Given the description of an element on the screen output the (x, y) to click on. 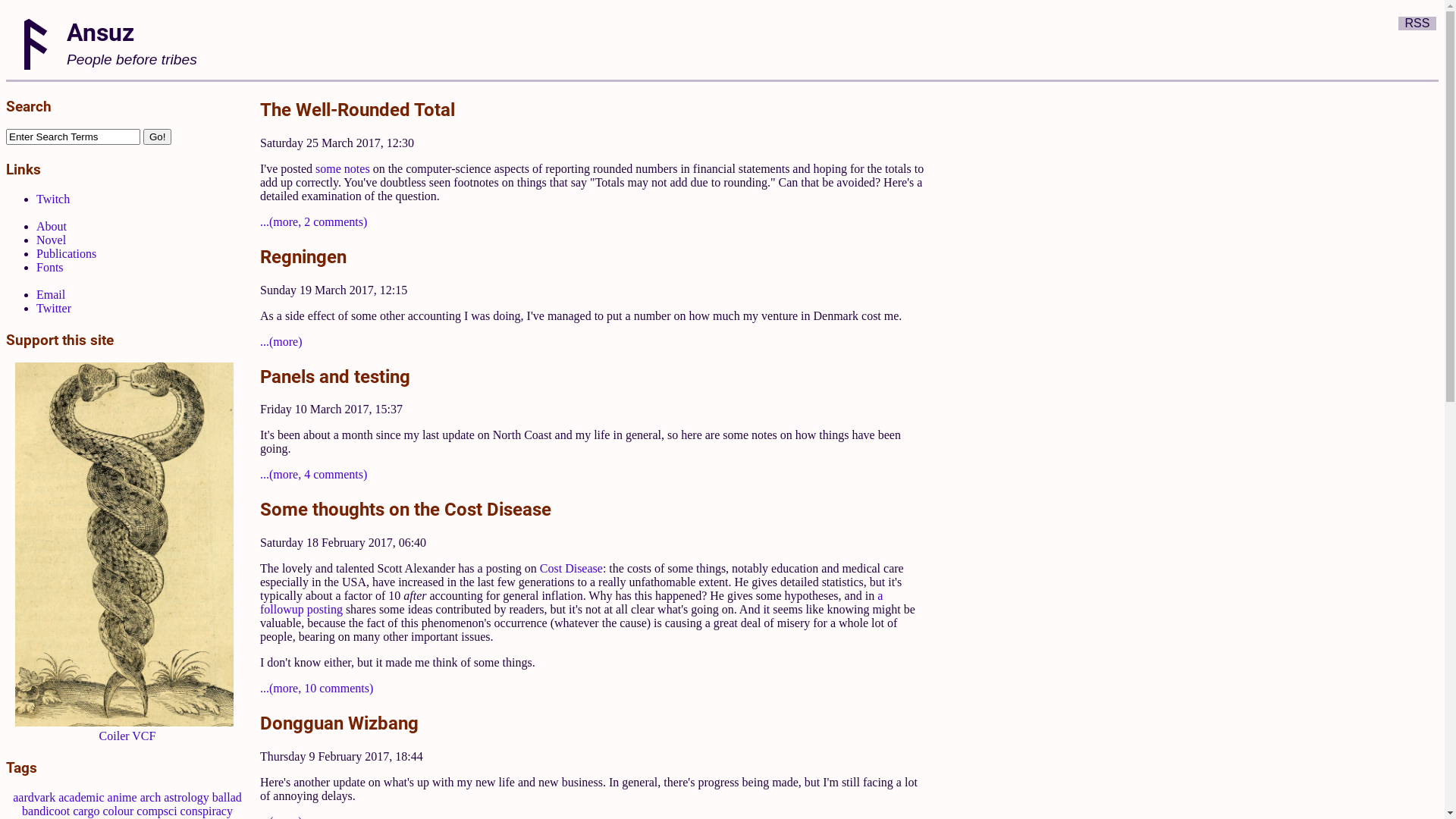
Novel Element type: text (50, 239)
Fonts Element type: text (49, 266)
Coiler VCF Element type: text (127, 735)
cargo Element type: text (85, 810)
Dongguan Wizbang Element type: text (339, 722)
a followup posting Element type: text (571, 602)
bandicoot Element type: text (45, 810)
Regningen Element type: text (303, 256)
aardvark Element type: text (33, 796)
Email Element type: text (50, 294)
colour Element type: text (117, 810)
About Element type: text (51, 225)
Cost Disease Element type: text (570, 567)
academic Element type: text (80, 796)
Ansuz Element type: text (100, 31)
The Well-Rounded Total Element type: text (357, 109)
...(more) Element type: text (281, 341)
compsci Element type: text (156, 810)
conspiracy Element type: text (206, 810)
Panels and testing Element type: text (335, 376)
arch Element type: text (150, 796)
astrology Element type: text (186, 796)
...(more, 2 comments) Element type: text (313, 221)
Twitch Element type: text (52, 198)
Publications Element type: text (66, 253)
Go! Element type: text (157, 136)
...(more, 4 comments) Element type: text (313, 473)
Some thoughts on the Cost Disease Element type: text (405, 508)
some notes Element type: text (342, 168)
anime Element type: text (122, 796)
...(more, 10 comments) Element type: text (316, 687)
ballad Element type: text (226, 796)
Twitter Element type: text (53, 307)
RSS Element type: text (1417, 22)
